Given the description of an element on the screen output the (x, y) to click on. 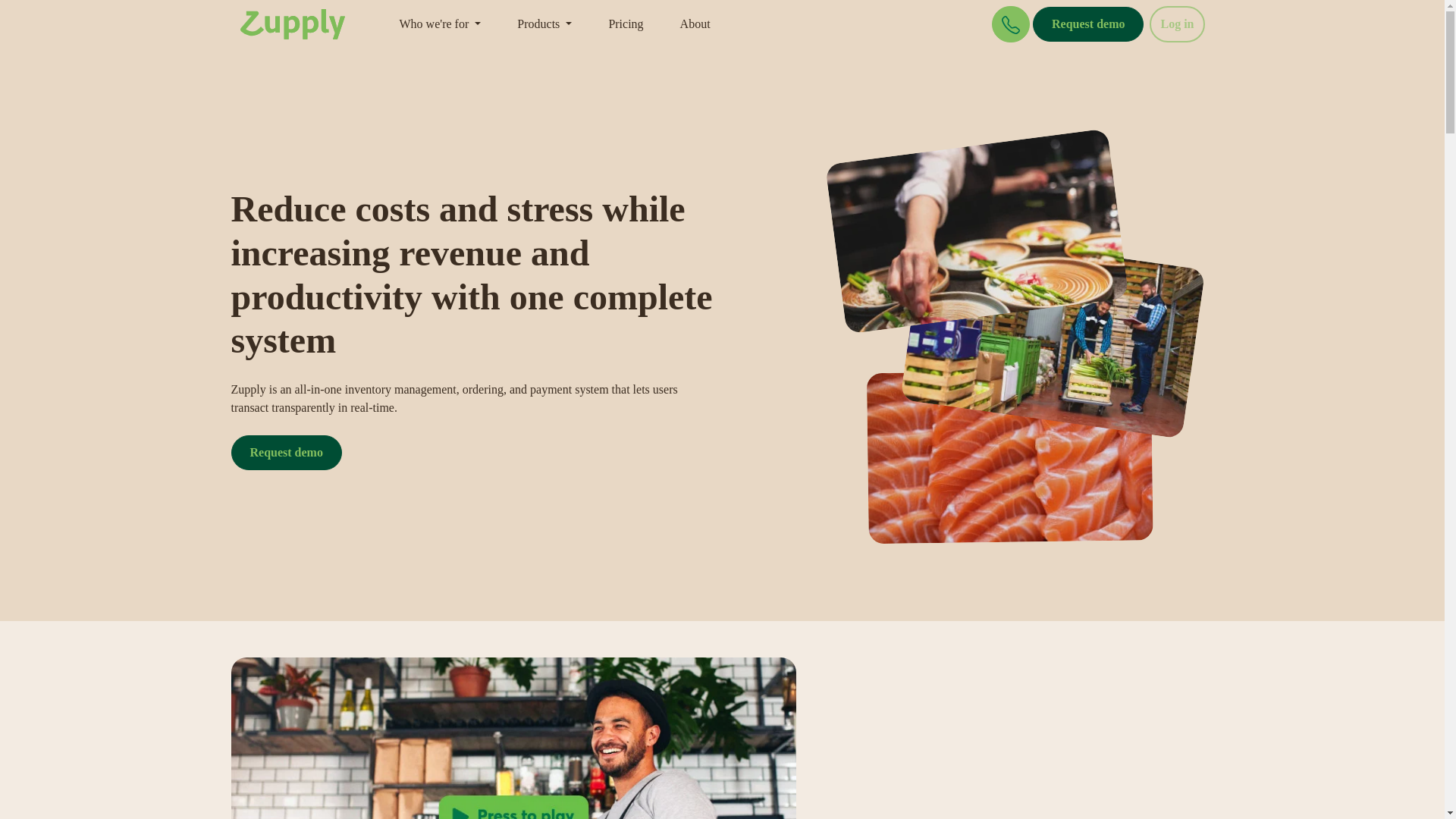
Products (544, 24)
Pricing (625, 24)
Who we're for (439, 24)
About (695, 24)
Request demo (285, 452)
Request demo (1087, 23)
The logo for Zupply (291, 24)
Log in (1177, 23)
